Given the description of an element on the screen output the (x, y) to click on. 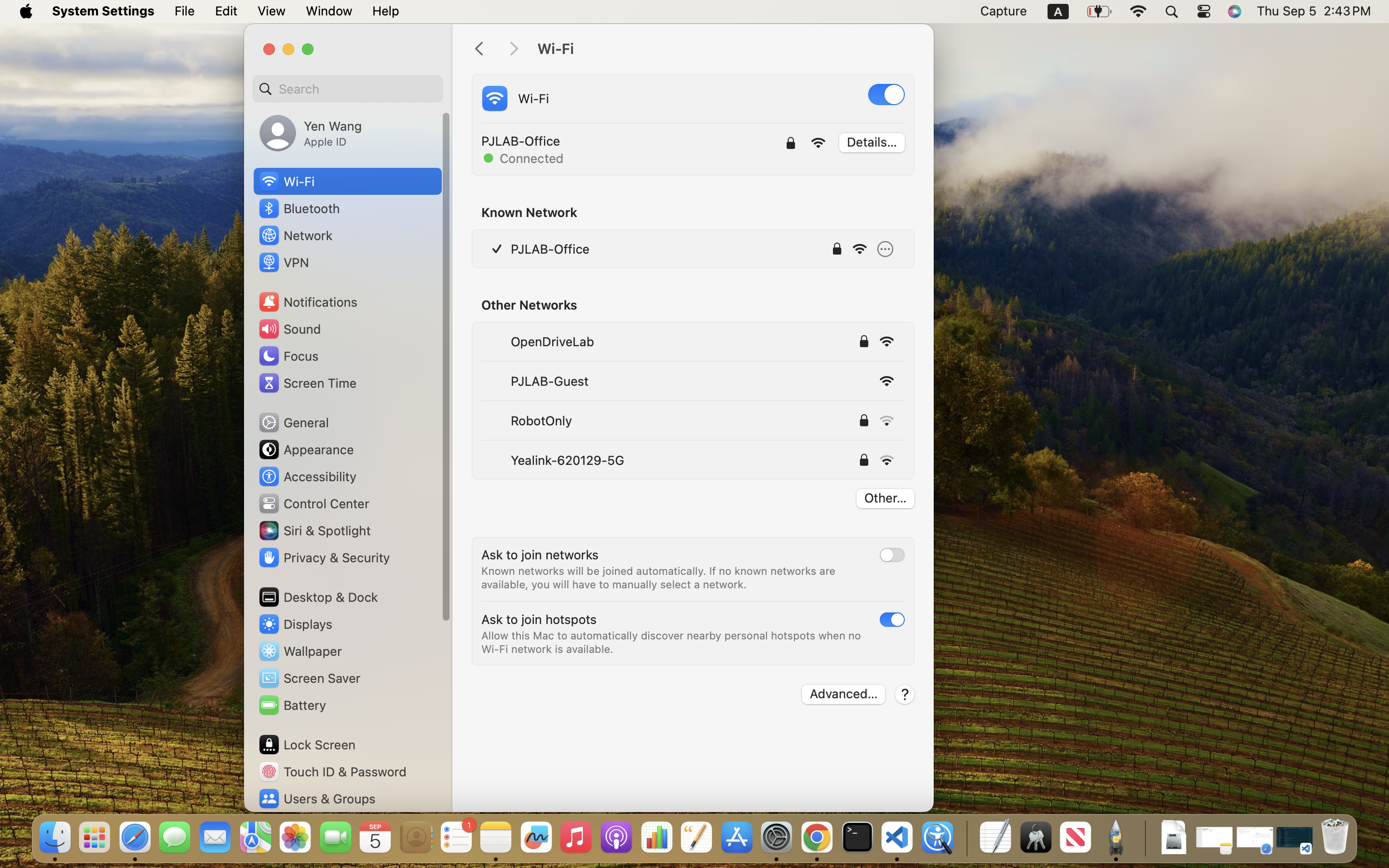
Privacy & Security Element type: AXStaticText (323, 557)
Screen Time Element type: AXStaticText (306, 382)
Notifications Element type: AXStaticText (307, 301)
Desktop & Dock Element type: AXStaticText (317, 596)
Wallpaper Element type: AXStaticText (299, 650)
